Given the description of an element on the screen output the (x, y) to click on. 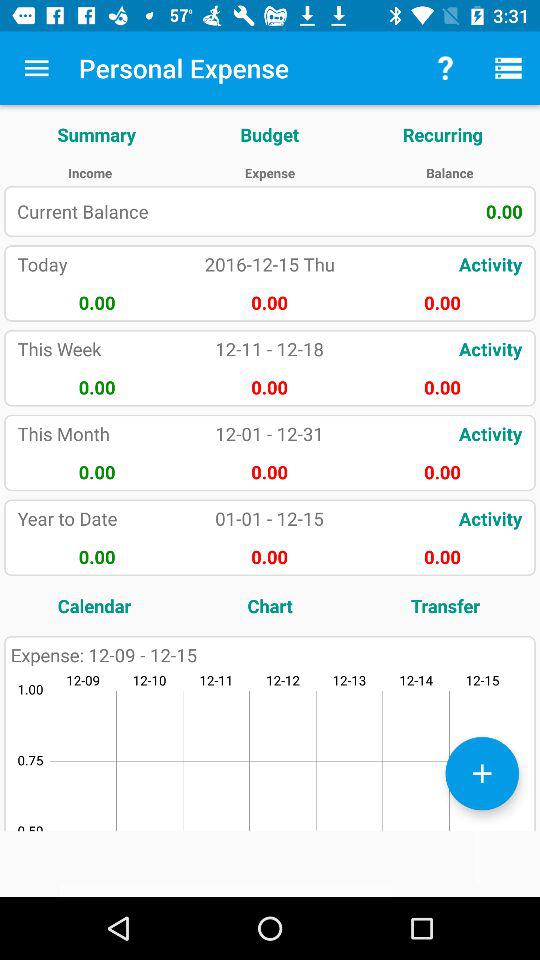
select budget item (269, 134)
